Given the description of an element on the screen output the (x, y) to click on. 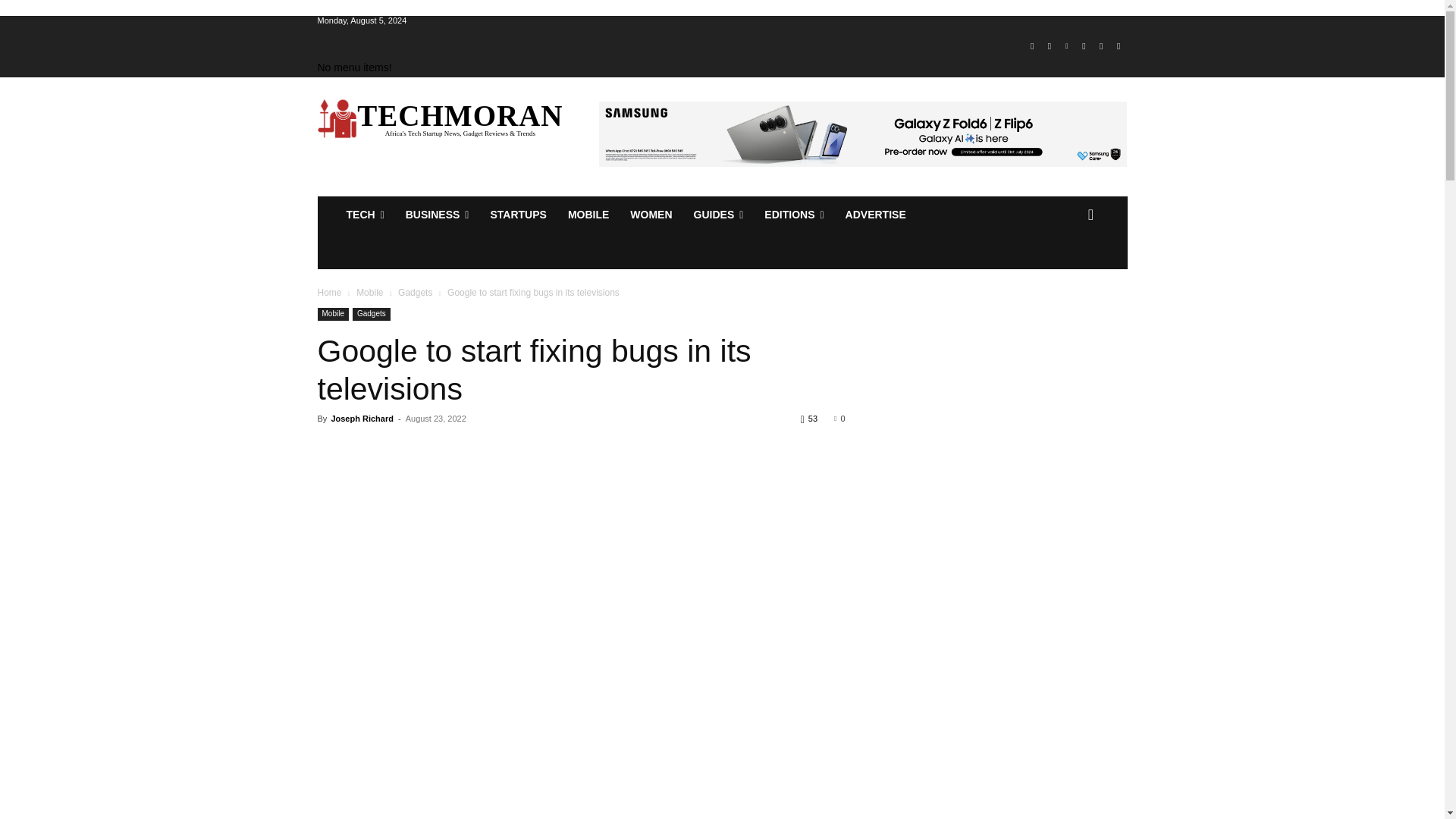
Telegram (1084, 46)
TECH (364, 214)
STARTUPS (517, 214)
BUSINESS (437, 214)
Instagram (1049, 46)
MOBILE (588, 214)
GUIDES (718, 214)
View all posts in Mobile (369, 292)
Linkedin (1066, 46)
Twitter (1101, 46)
Youtube (1117, 46)
Mobile (588, 214)
Facebook (1032, 46)
WOMEN (651, 214)
